Given the description of an element on the screen output the (x, y) to click on. 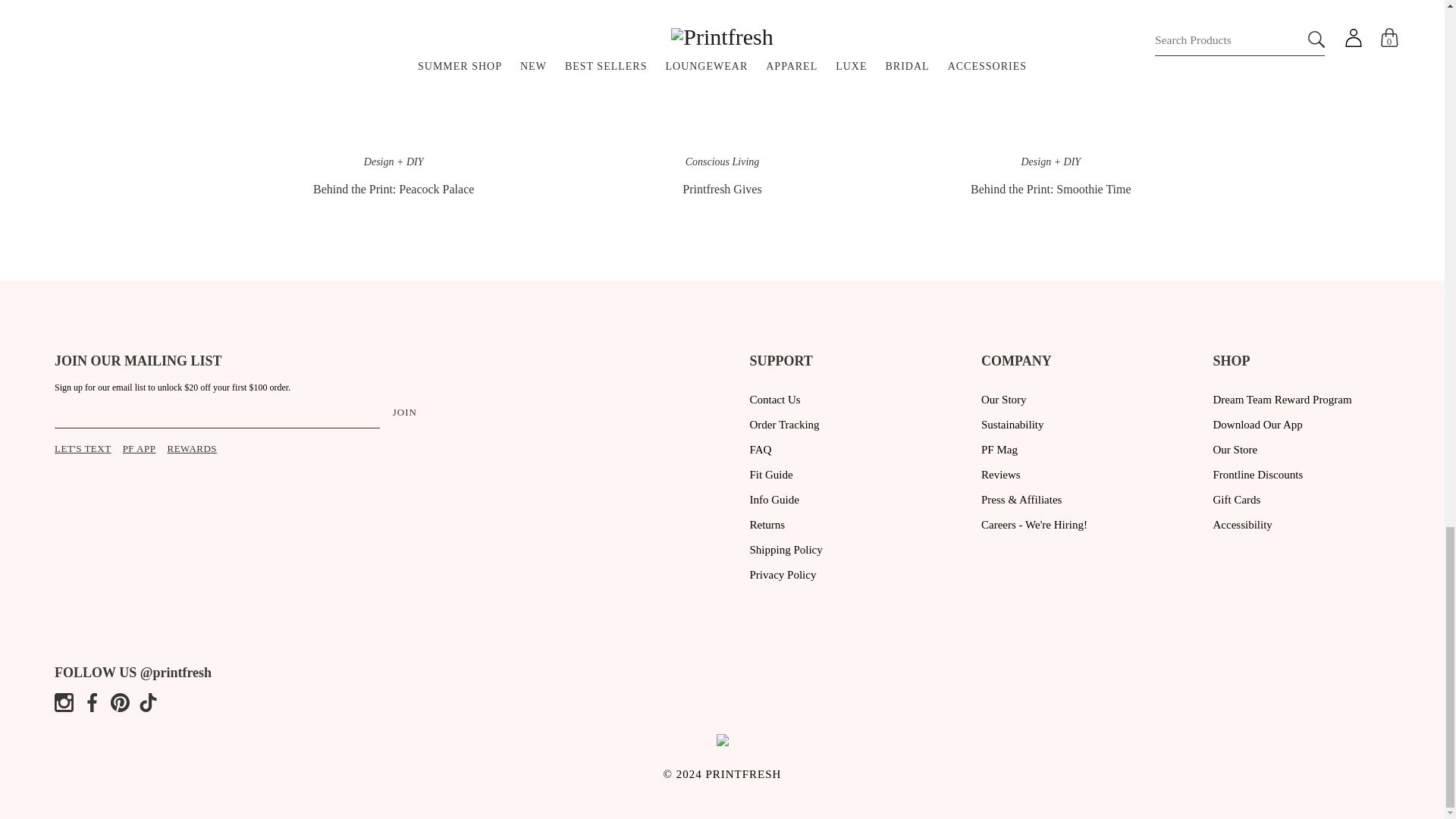
Email (217, 412)
